Given the description of an element on the screen output the (x, y) to click on. 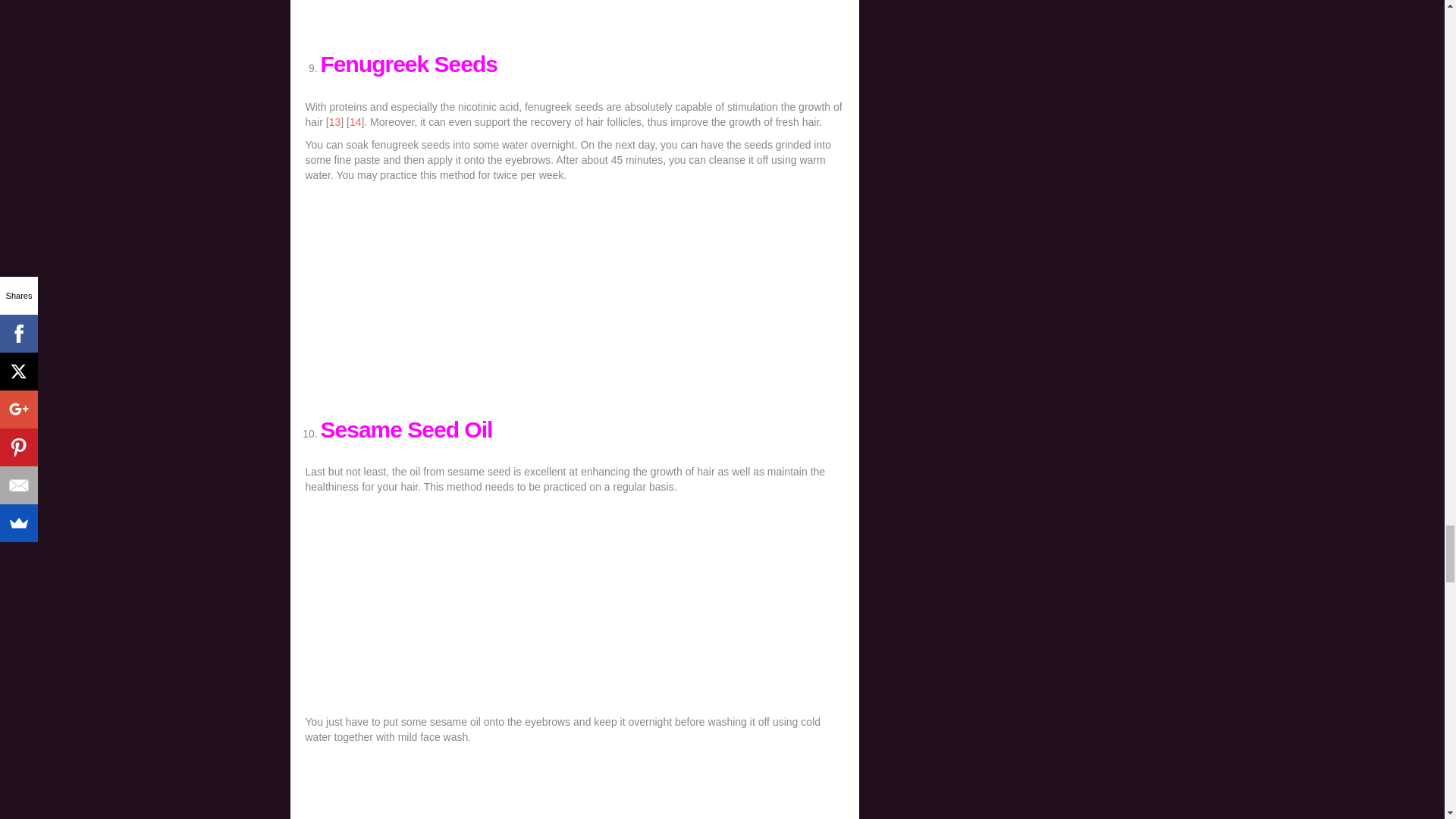
13 (334, 121)
